Given the description of an element on the screen output the (x, y) to click on. 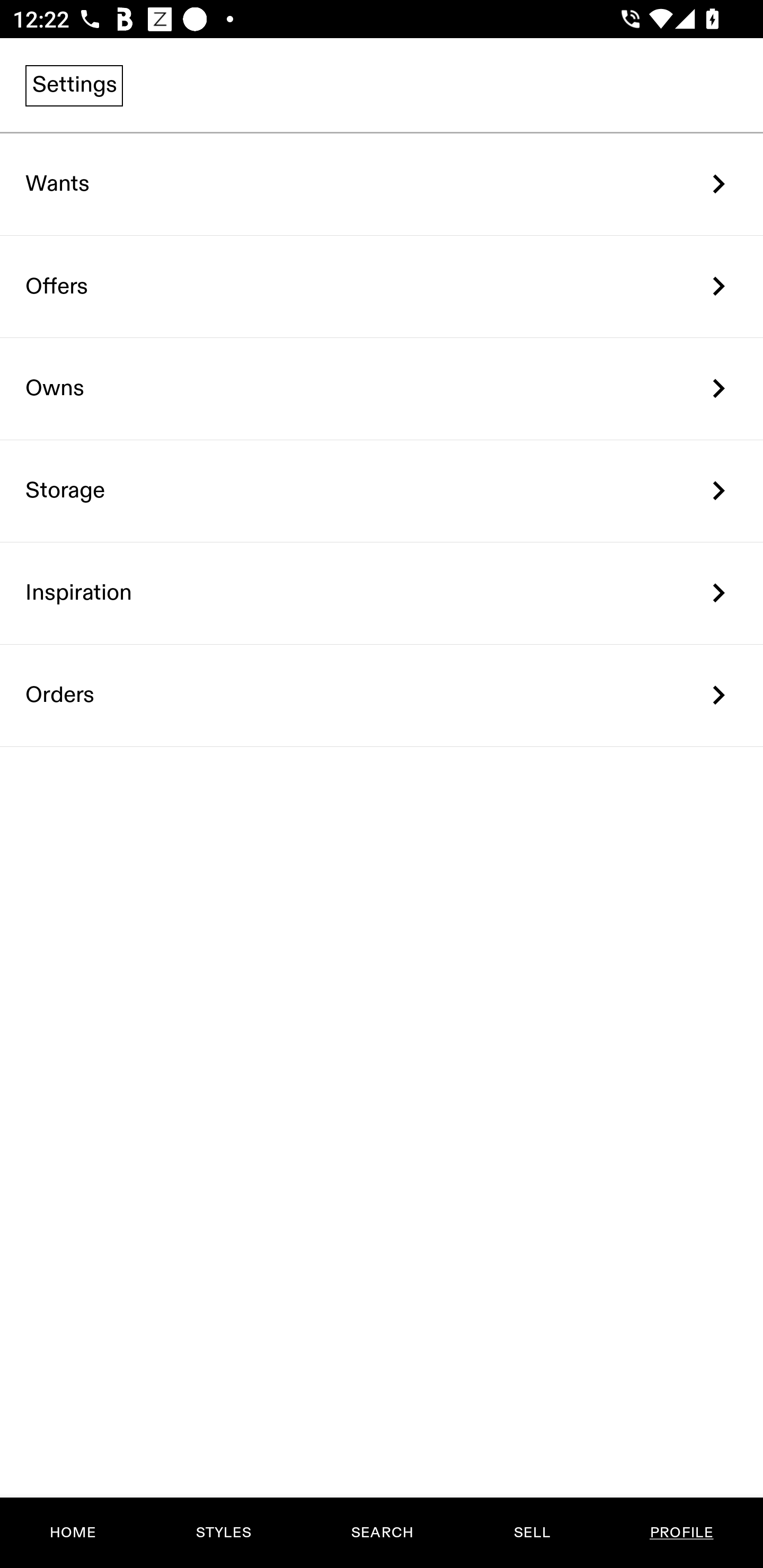
Settings (73, 85)
Wants (381, 184)
Offers (381, 286)
Owns (381, 388)
Storage (381, 491)
Inspiration (381, 593)
Orders (381, 695)
HOME (72, 1532)
STYLES (222, 1532)
SEARCH (381, 1532)
SELL (531, 1532)
PROFILE (681, 1532)
